Given the description of an element on the screen output the (x, y) to click on. 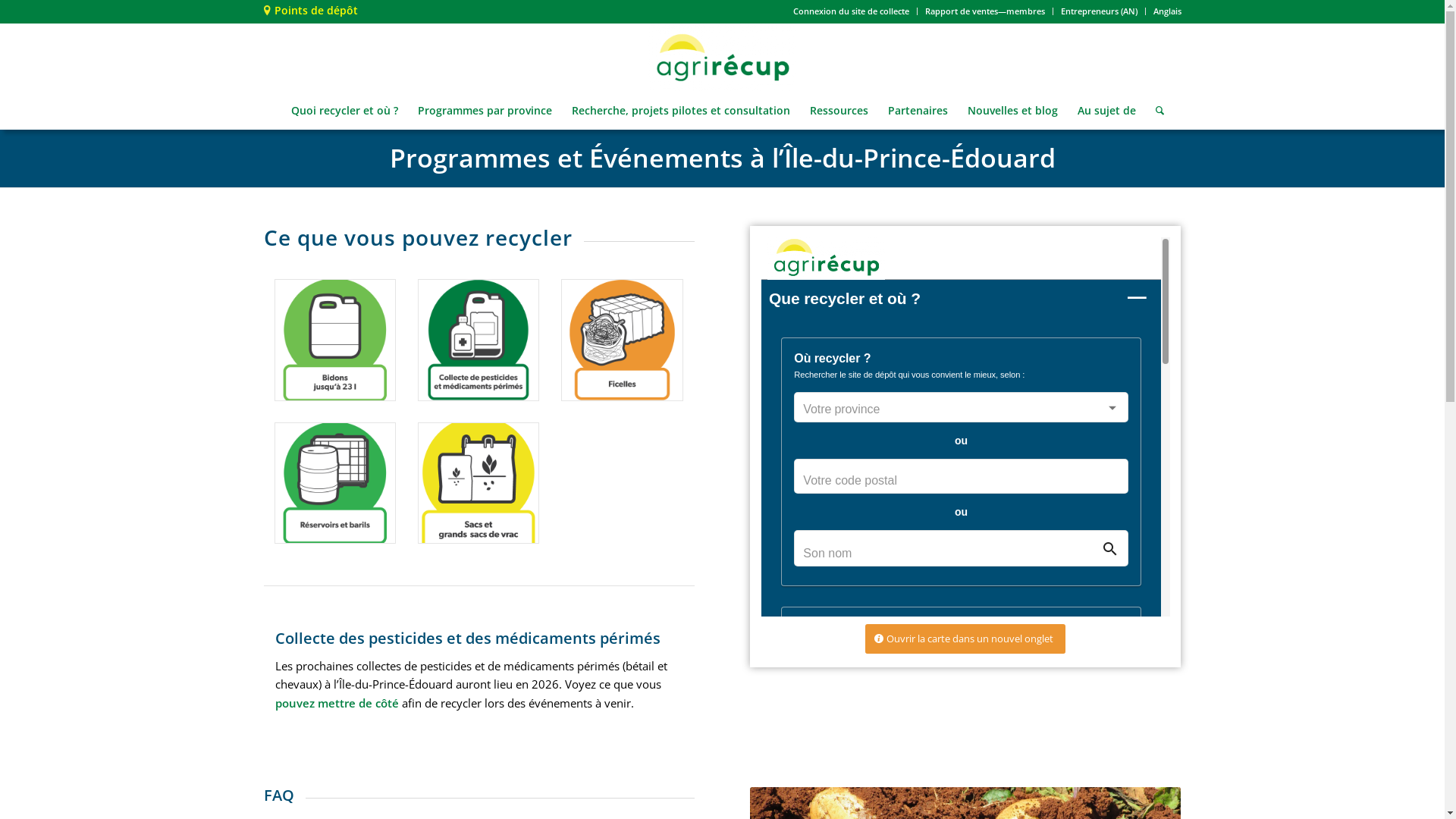
Entrepreneurs (AN) Element type: text (1098, 10)
Au sujet de Element type: text (1106, 110)
Partenaires Element type: text (917, 110)
Connexion du site de collecte Element type: text (851, 10)
Nouvelles et blog Element type: text (1011, 110)
Ouvrir la carte dans un nouvel onglet Element type: text (965, 638)
Ressources Element type: text (838, 110)
Anglais Element type: text (1166, 10)
Programmes par province Element type: text (484, 110)
Recherche, projets pilotes et consultation Element type: text (680, 110)
